Given the description of an element on the screen output the (x, y) to click on. 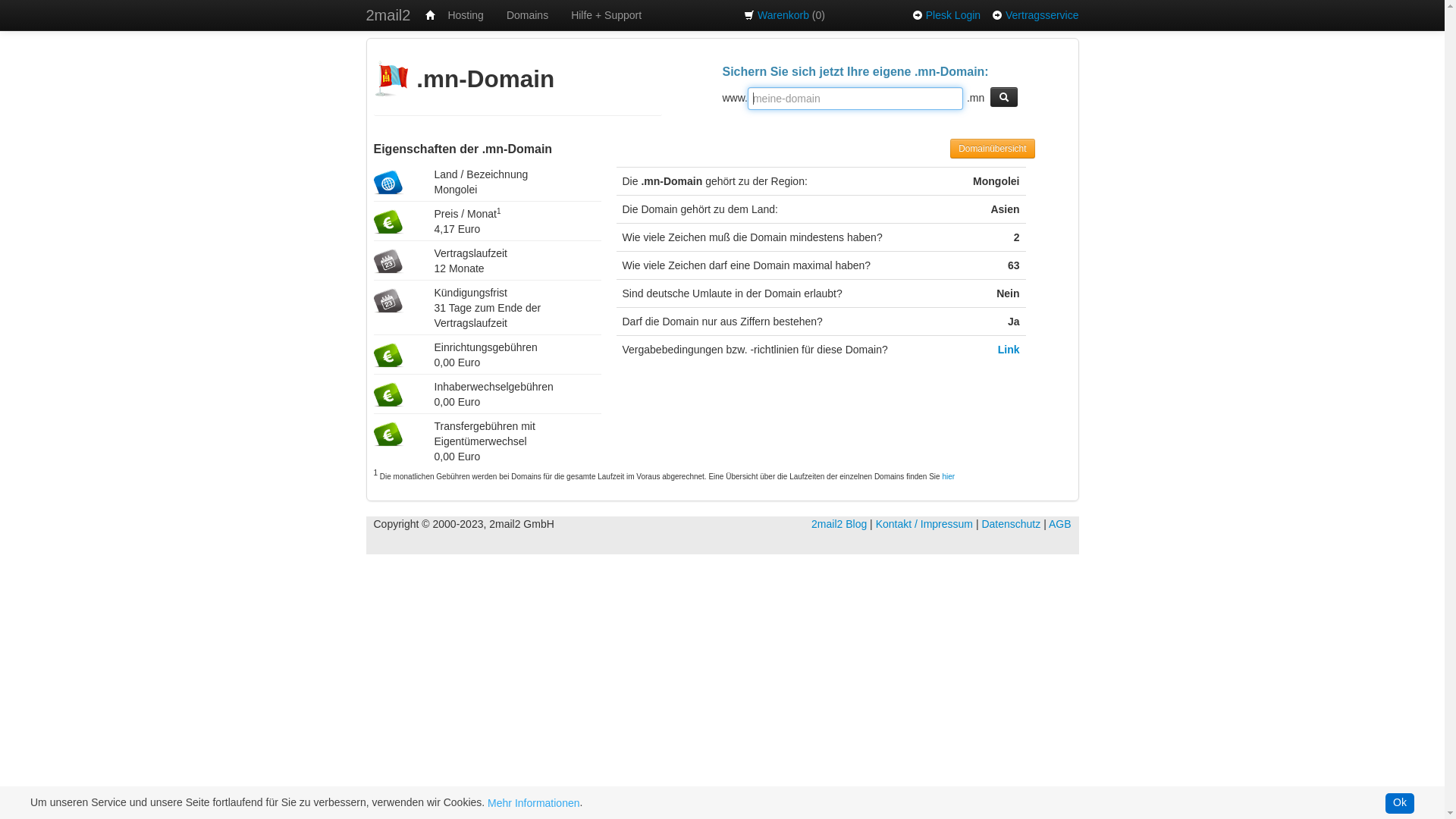
Kontakt / Impressum Element type: text (923, 523)
Link Element type: text (1008, 349)
hier Element type: text (947, 476)
Datenschutz Element type: text (1010, 523)
AGB Element type: text (1059, 523)
Vertragsservice Element type: text (1041, 15)
Domains Element type: text (527, 15)
Hilfe + Support Element type: text (605, 15)
Plesk Login Element type: text (952, 15)
2mail2 Element type: text (387, 15)
Warenkorb Element type: text (783, 15)
Hosting Element type: text (465, 15)
2mail2 Blog Element type: text (838, 523)
Mehr Informationen Element type: text (533, 803)
Ok Element type: text (1399, 803)
